Given the description of an element on the screen output the (x, y) to click on. 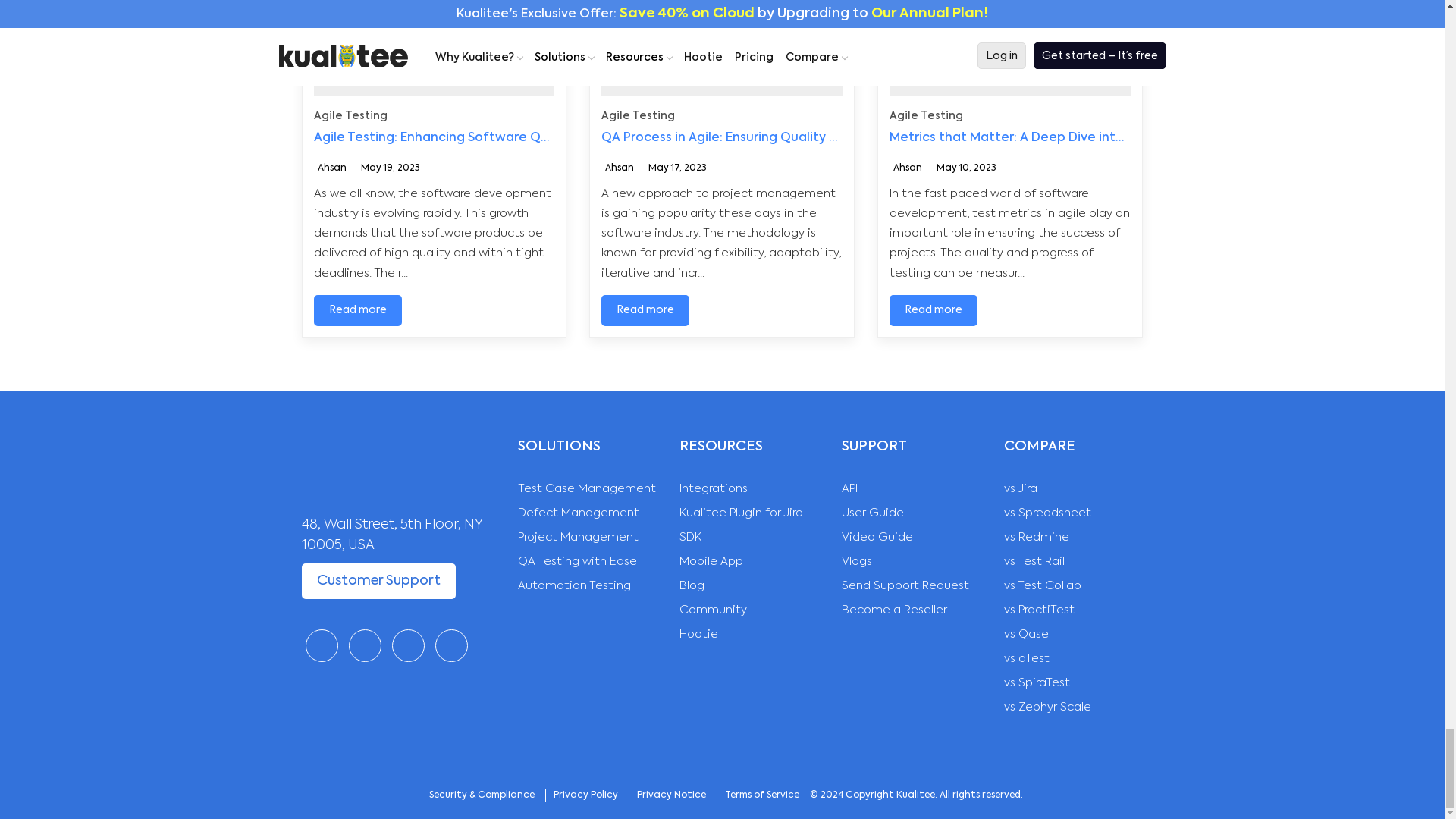
Visit Twitter Link (365, 645)
Visit linkedin Link (407, 645)
Visit facebook Link (320, 645)
Visit youtube Link (451, 645)
